Given the description of an element on the screen output the (x, y) to click on. 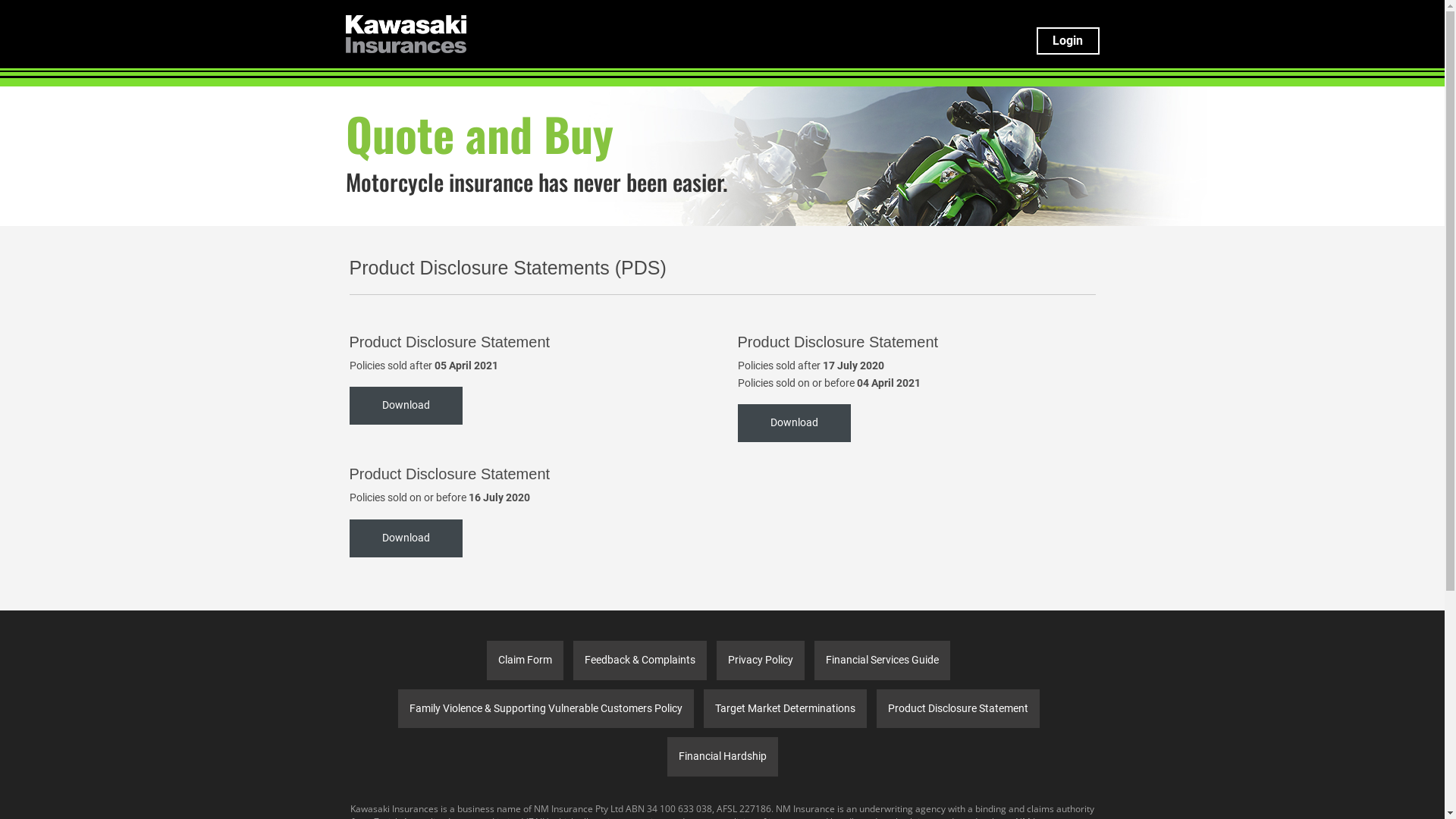
Financial Services Guide Element type: text (882, 660)
Download Element type: text (793, 423)
Product Disclosure Statement Element type: text (957, 708)
Financial Hardship Element type: text (722, 756)
Claim Form Element type: text (524, 660)
Family Violence & Supporting Vulnerable Customers Policy Element type: text (545, 708)
Download Element type: text (404, 538)
Download Element type: text (404, 405)
Login Element type: text (1067, 40)
Feedback & Complaints Element type: text (639, 660)
Target Market Determinations Element type: text (784, 708)
Privacy Policy Element type: text (760, 660)
